Given the description of an element on the screen output the (x, y) to click on. 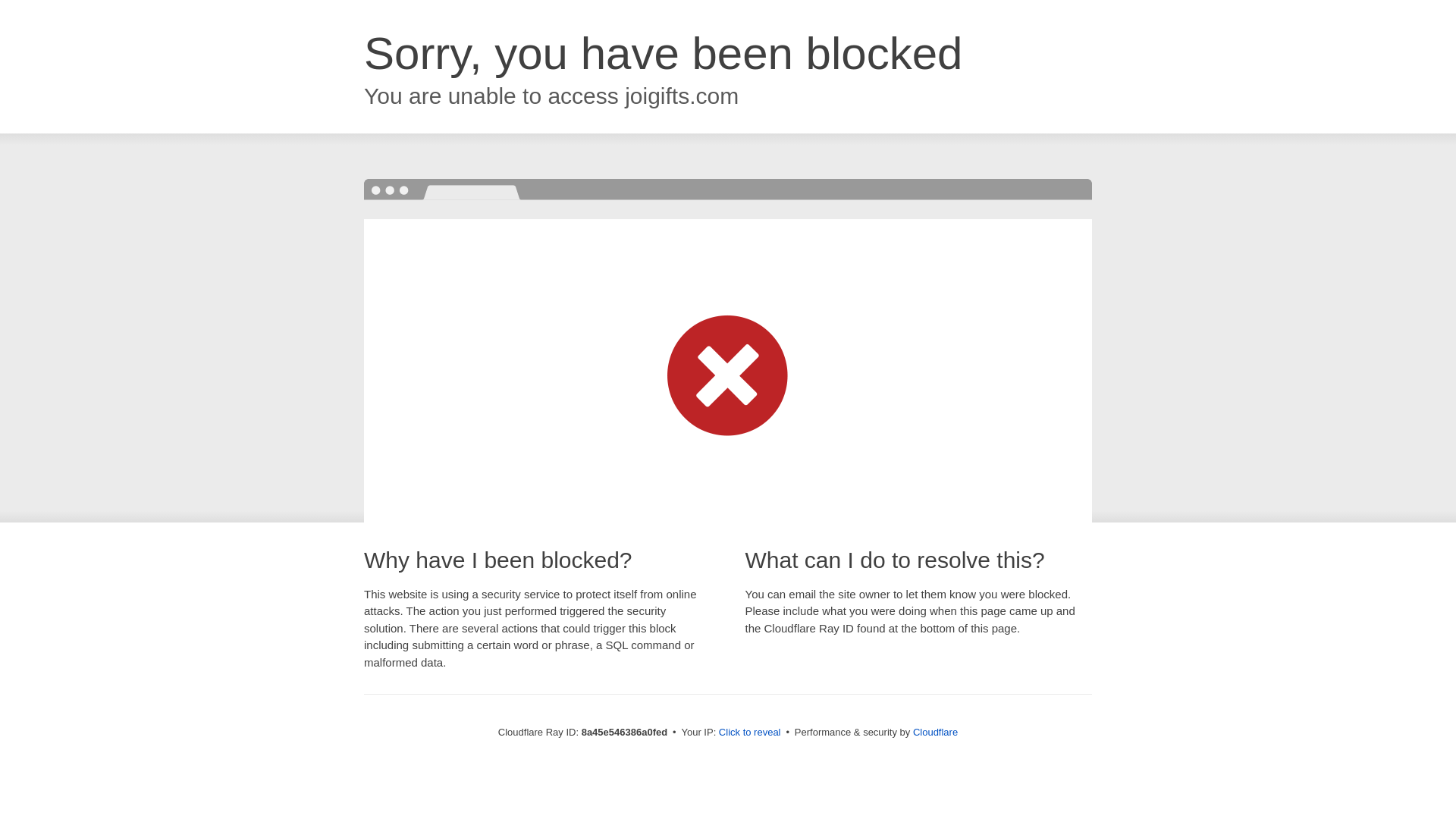
Cloudflare (935, 731)
Click to reveal (749, 732)
